Given the description of an element on the screen output the (x, y) to click on. 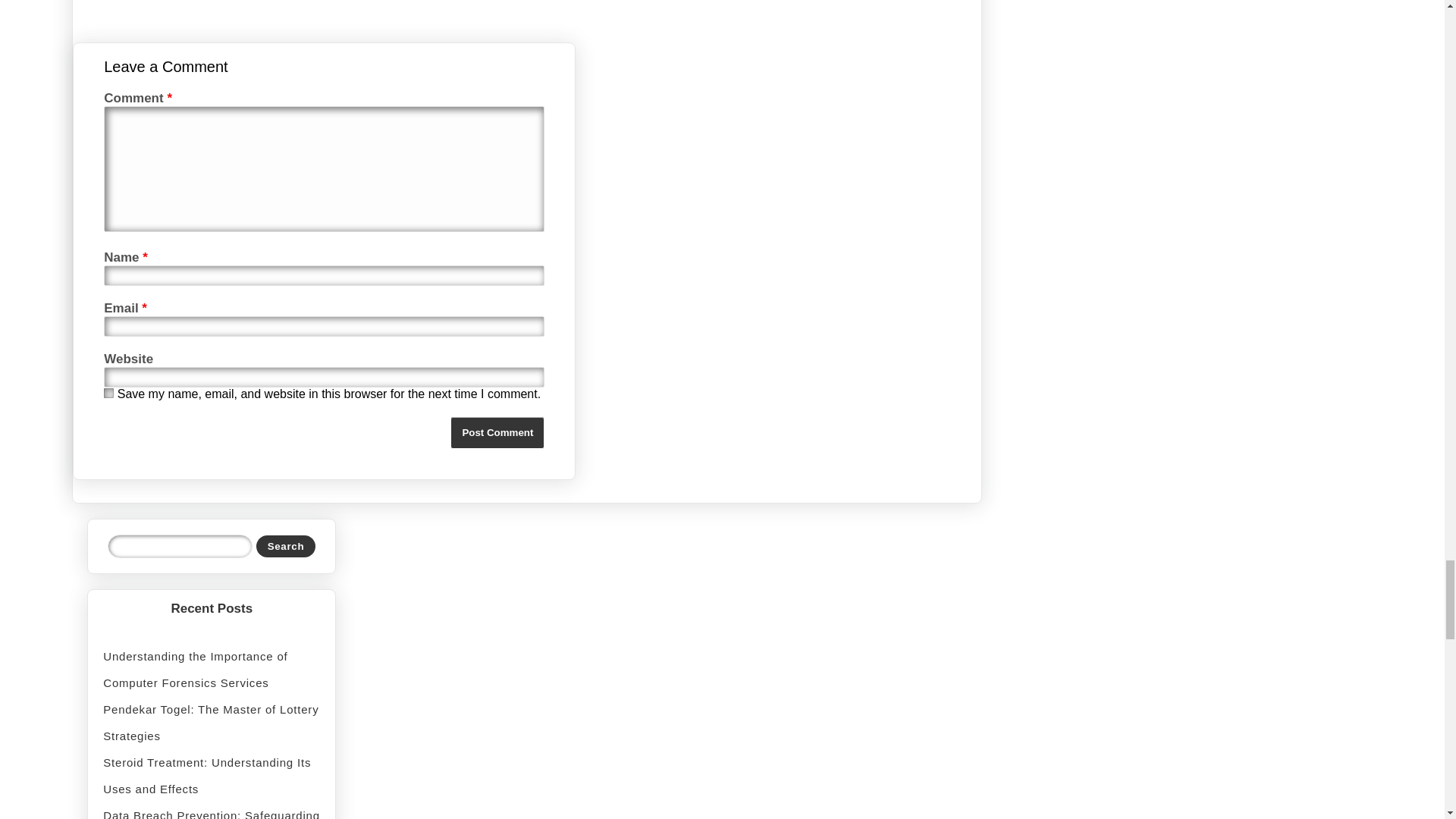
Search (285, 546)
Post Comment (496, 432)
yes (108, 393)
